Given the description of an element on the screen output the (x, y) to click on. 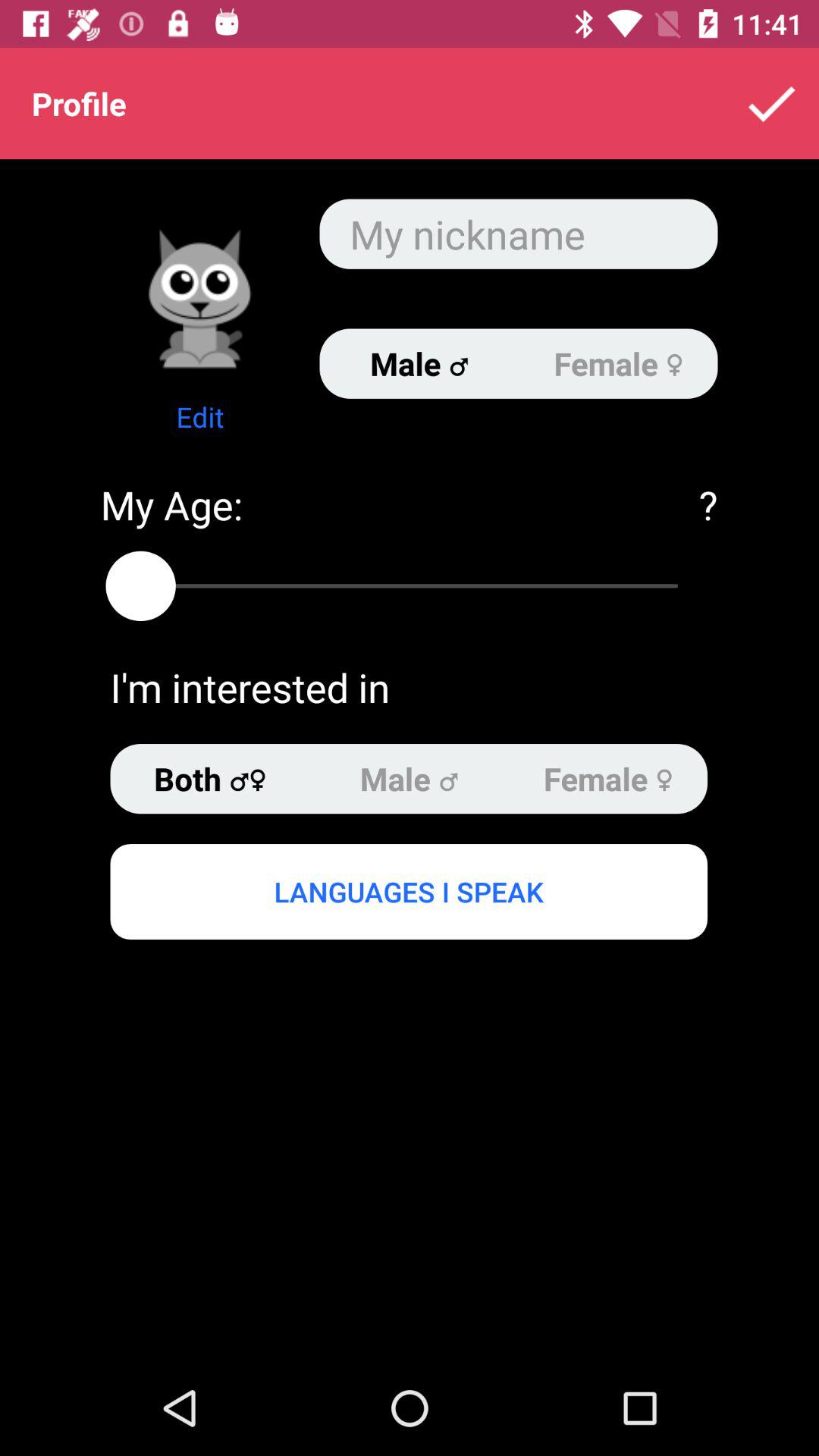
scroll until the languages i speak item (408, 891)
